Given the description of an element on the screen output the (x, y) to click on. 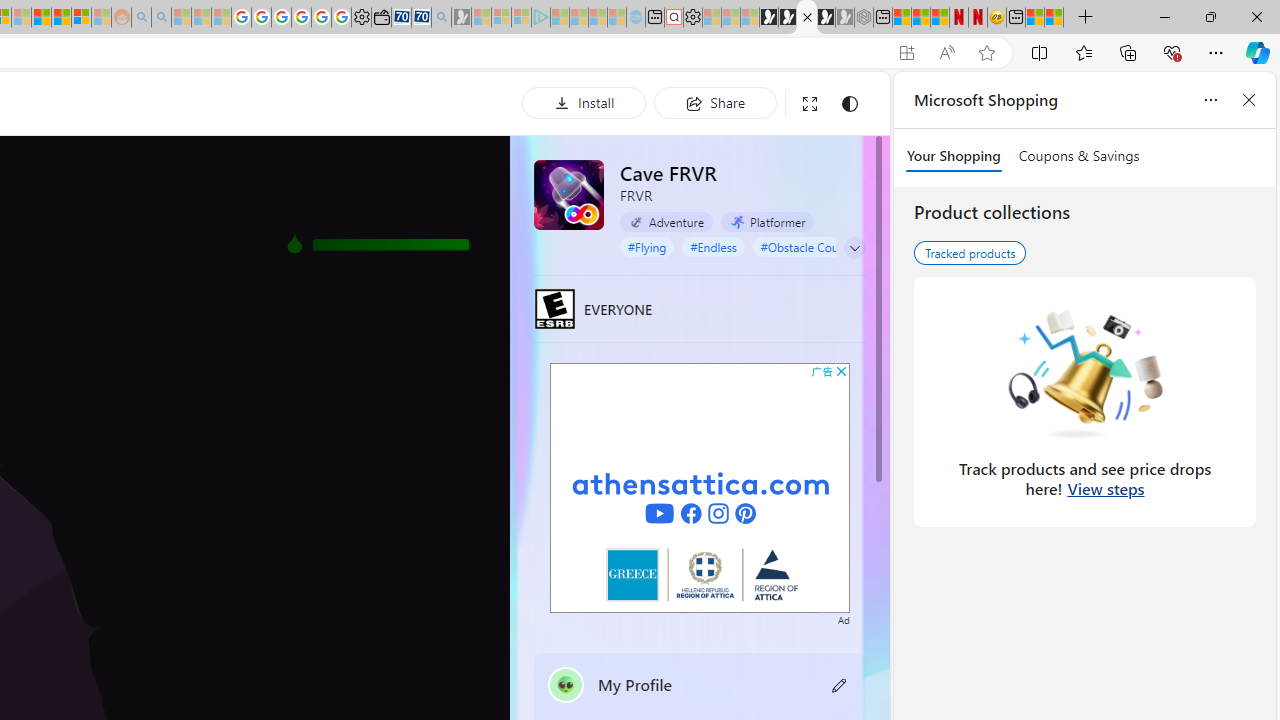
AutomationID: cbb (841, 371)
Advertisement (699, 487)
Wildlife - MSN (1035, 17)
Microsoft account | Privacy - Sleeping (521, 17)
#Flying (646, 246)
Class: control (855, 248)
